Given the description of an element on the screen output the (x, y) to click on. 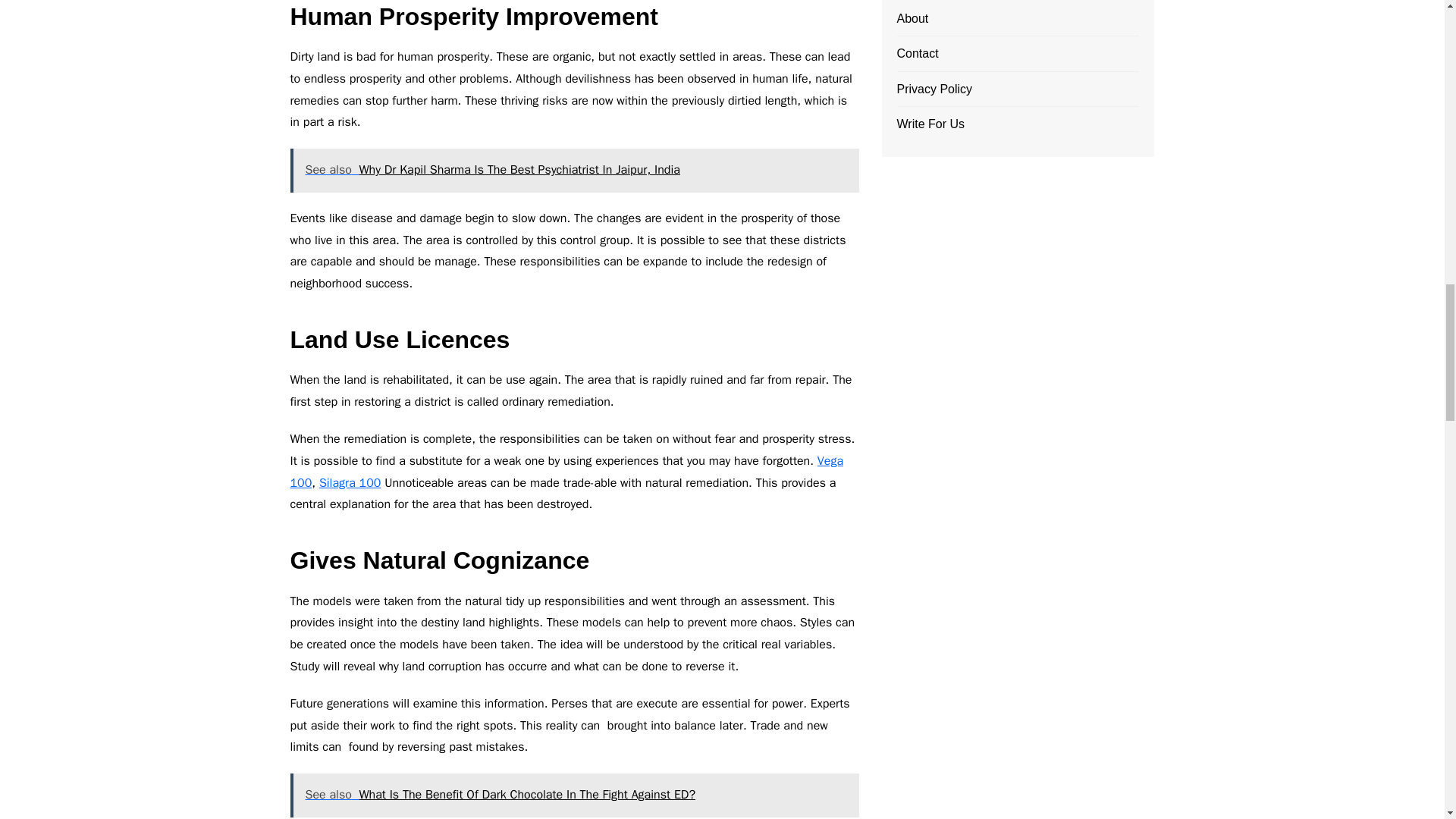
Vega 100 (566, 471)
